Given the description of an element on the screen output the (x, y) to click on. 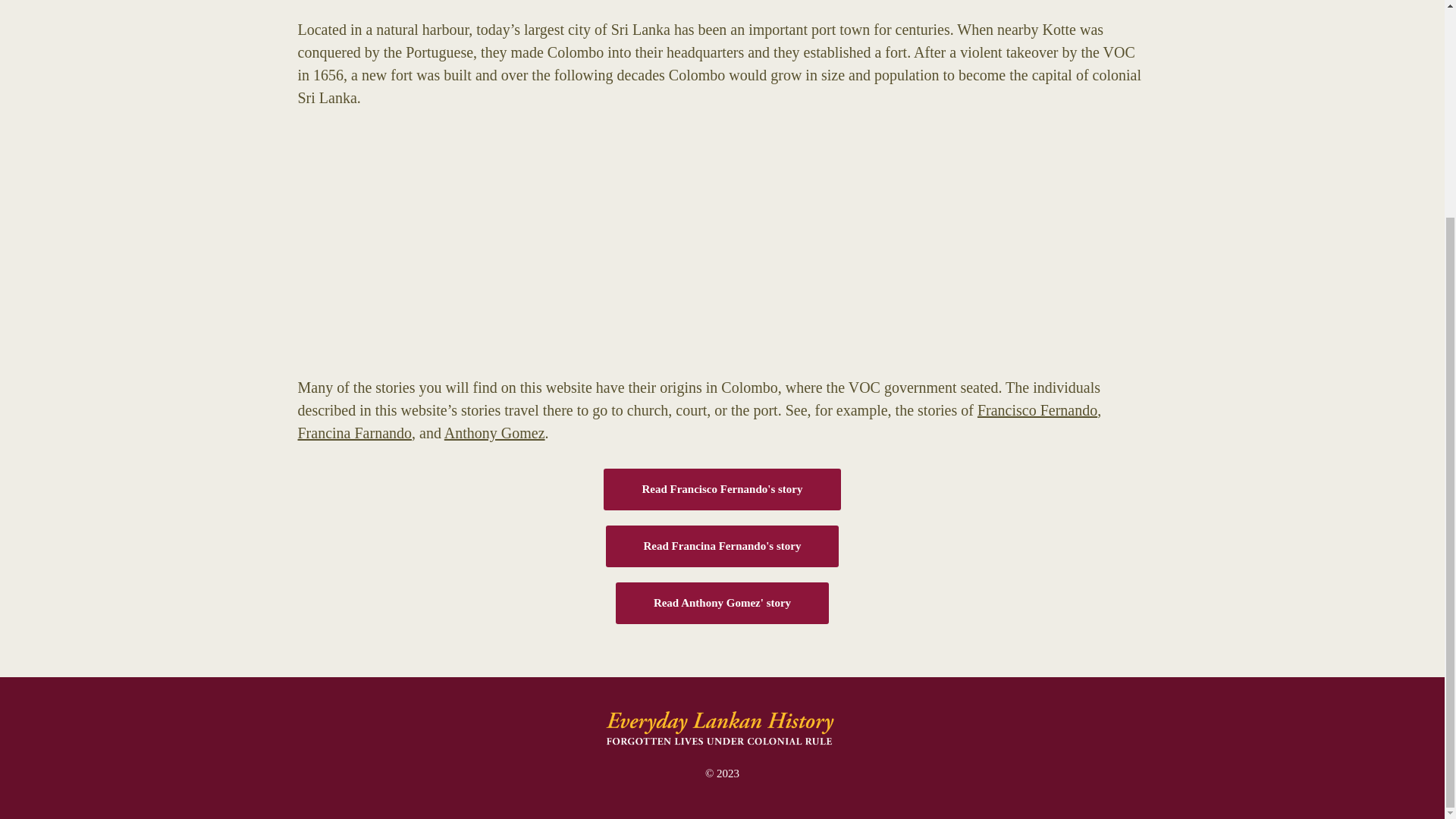
Read Anthony Gomez' story (721, 603)
Read Francisco Fernando's story (722, 489)
Read Francina Fernando's story (722, 546)
